Given the description of an element on the screen output the (x, y) to click on. 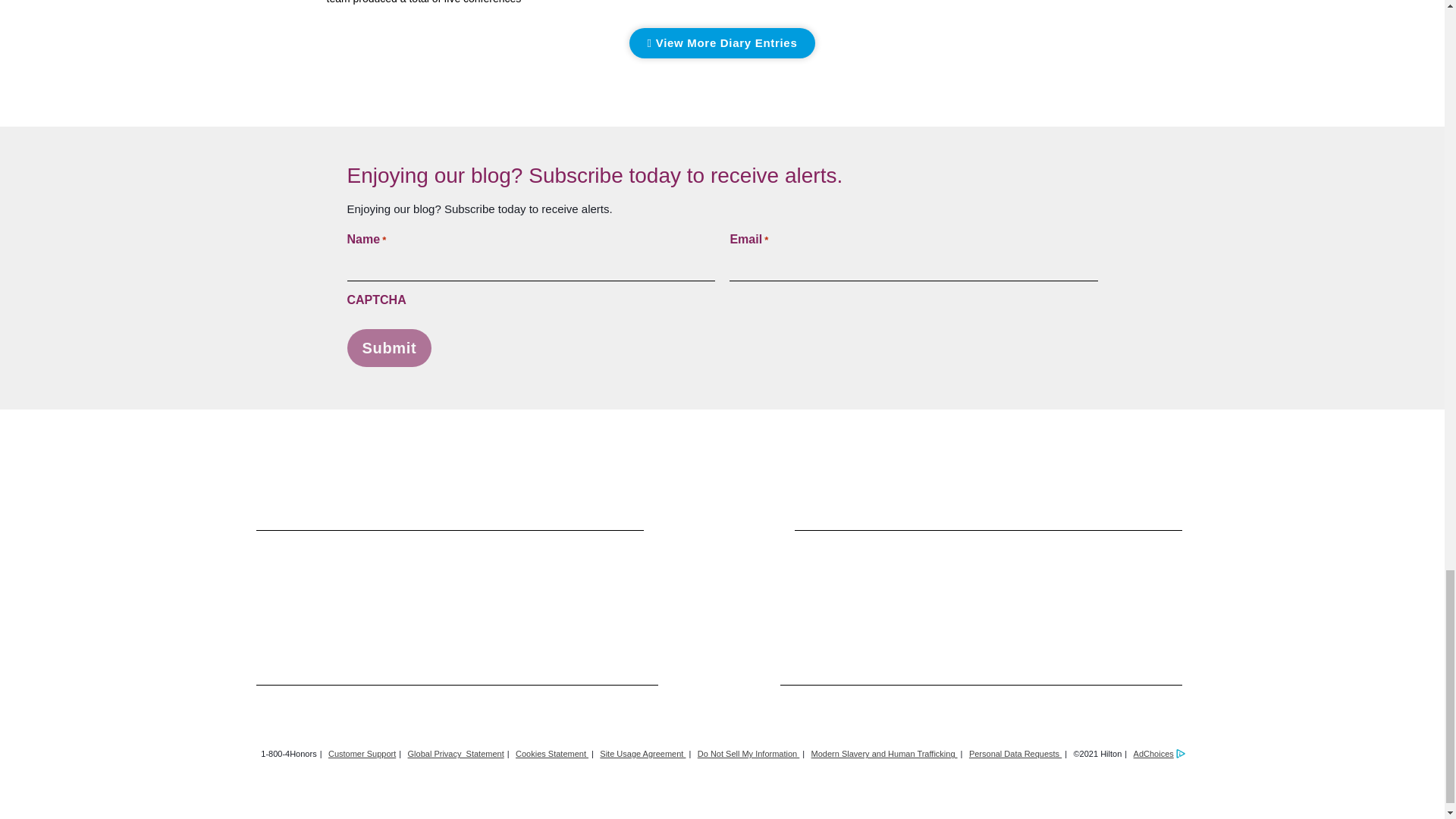
Submit (389, 347)
Canopy, opens new window (464, 592)
Embassy Suites by Hilton, opens new window (780, 593)
LXR, opens new window (345, 592)
motto, opens new window (877, 592)
Tru by Hilton, opens new window (1016, 592)
Hilton Garden Inn, opens new window (928, 592)
Homewood Suites by Hilton, opens new window (1105, 592)
Tapestry Collection by Hilton, opens new window (729, 592)
Signia, opens new window (526, 592)
Curio Collection, opens new window (624, 592)
Tempo, opens in a new tab (828, 592)
Home2 Suites by Hilton, opens new window (1154, 592)
DoubleTree by Hilton, opens new window (674, 592)
Hampton by Hilton, opens new window (976, 592)
